Given the description of an element on the screen output the (x, y) to click on. 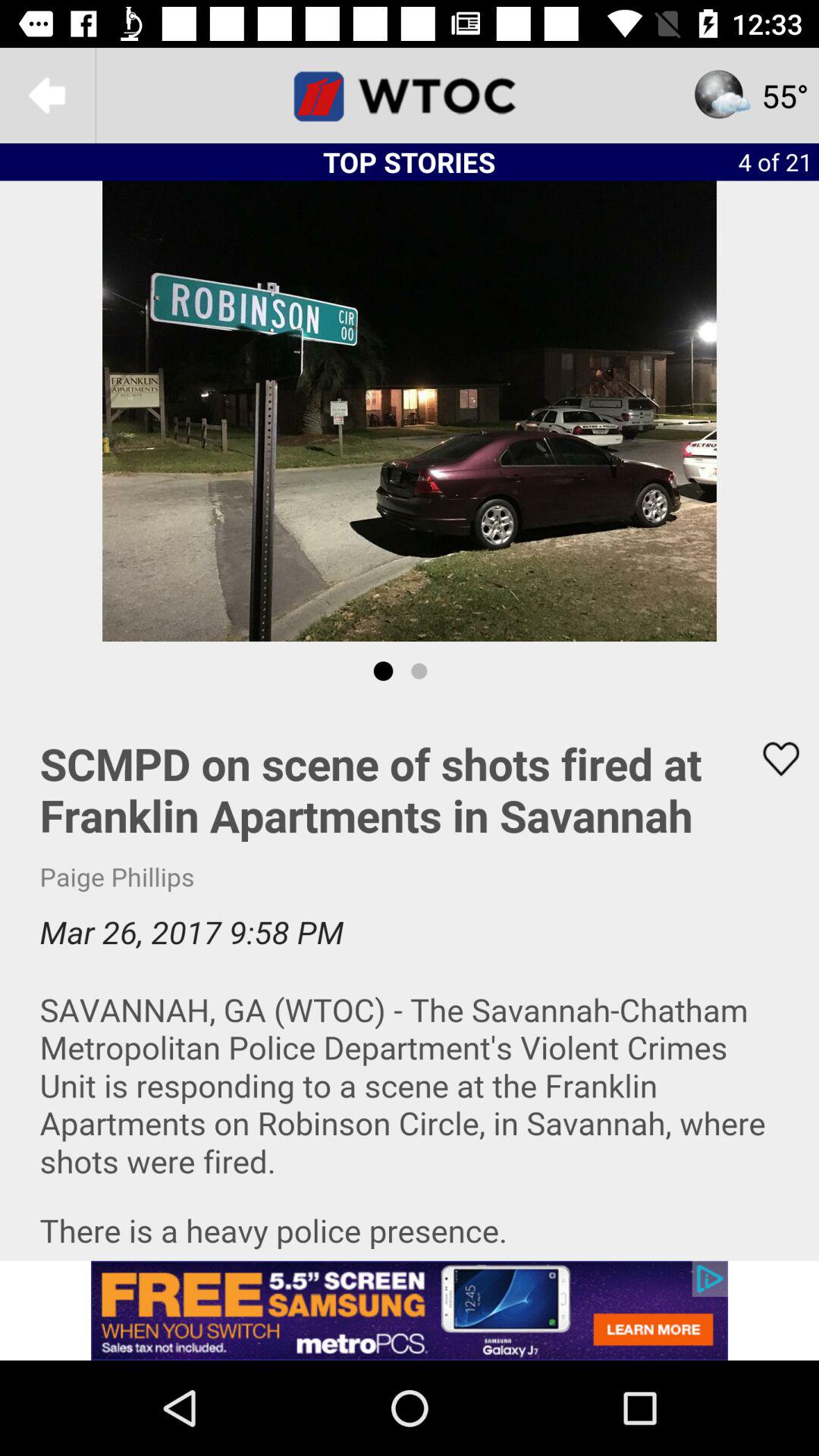
go to previous button (47, 95)
